Given the description of an element on the screen output the (x, y) to click on. 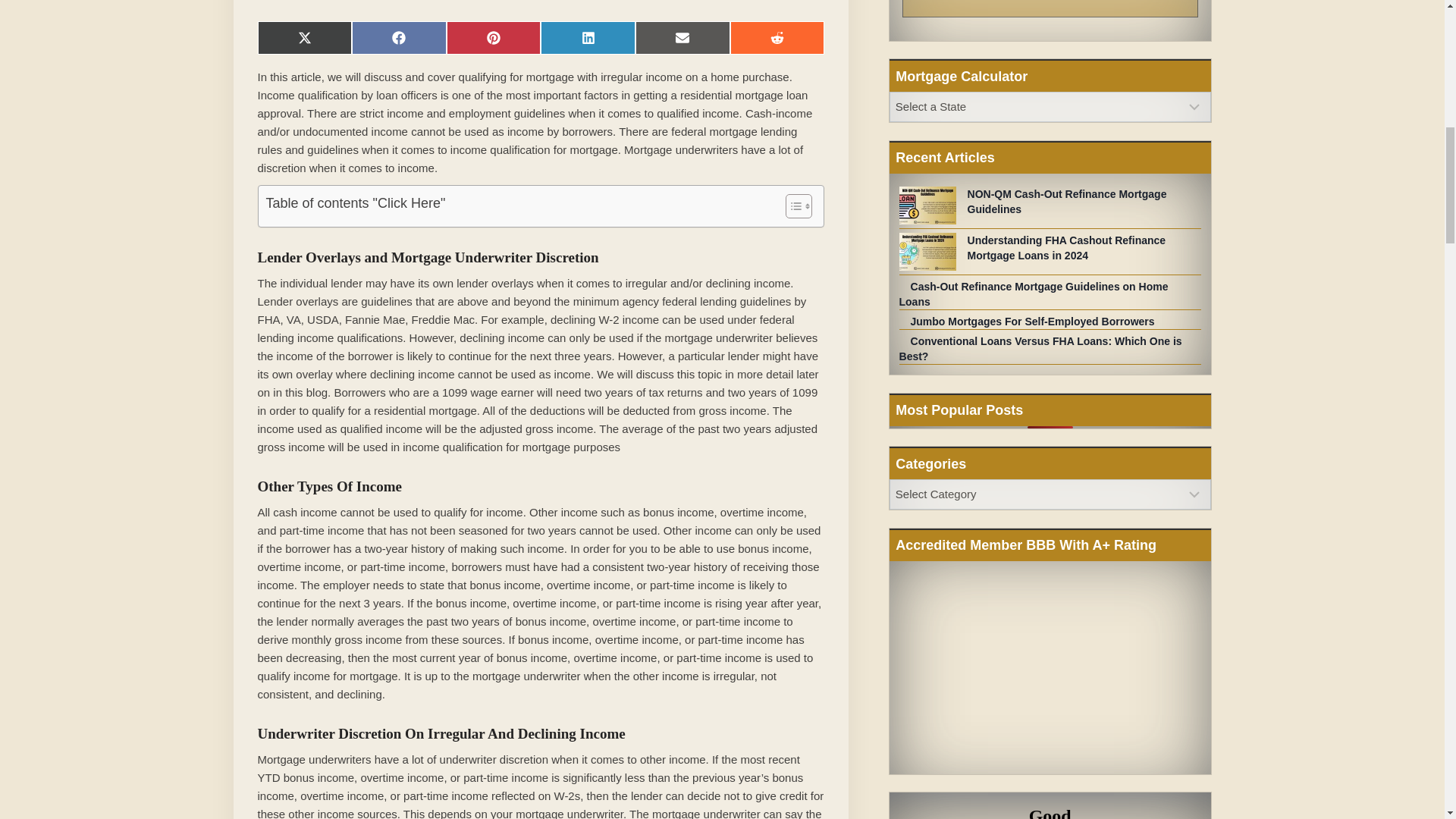
Submit (1050, 8)
